Given the description of an element on the screen output the (x, y) to click on. 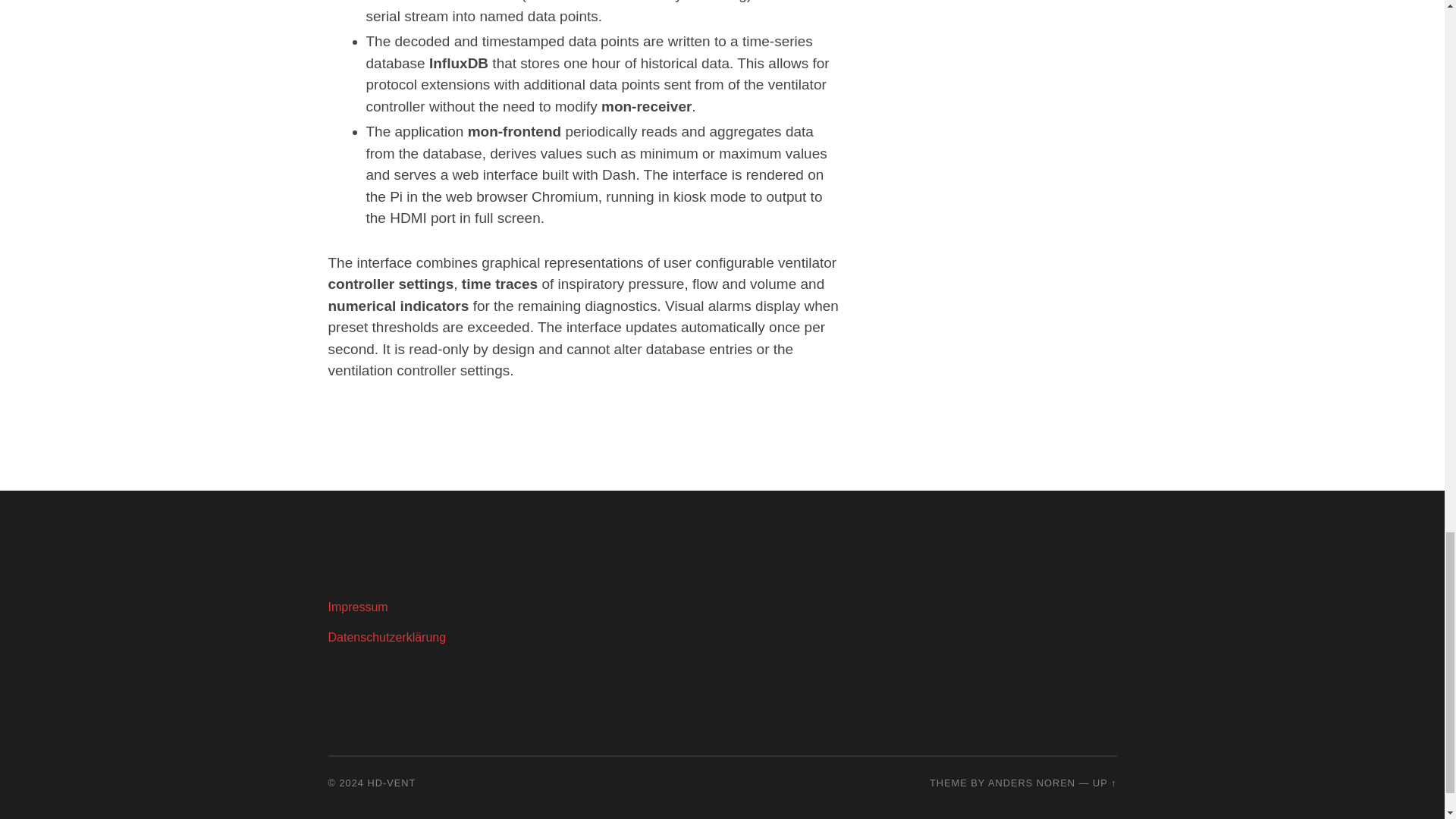
Impressum (357, 606)
To the top (1104, 782)
HD-VENT (392, 782)
ANDERS NOREN (1031, 782)
